Given the description of an element on the screen output the (x, y) to click on. 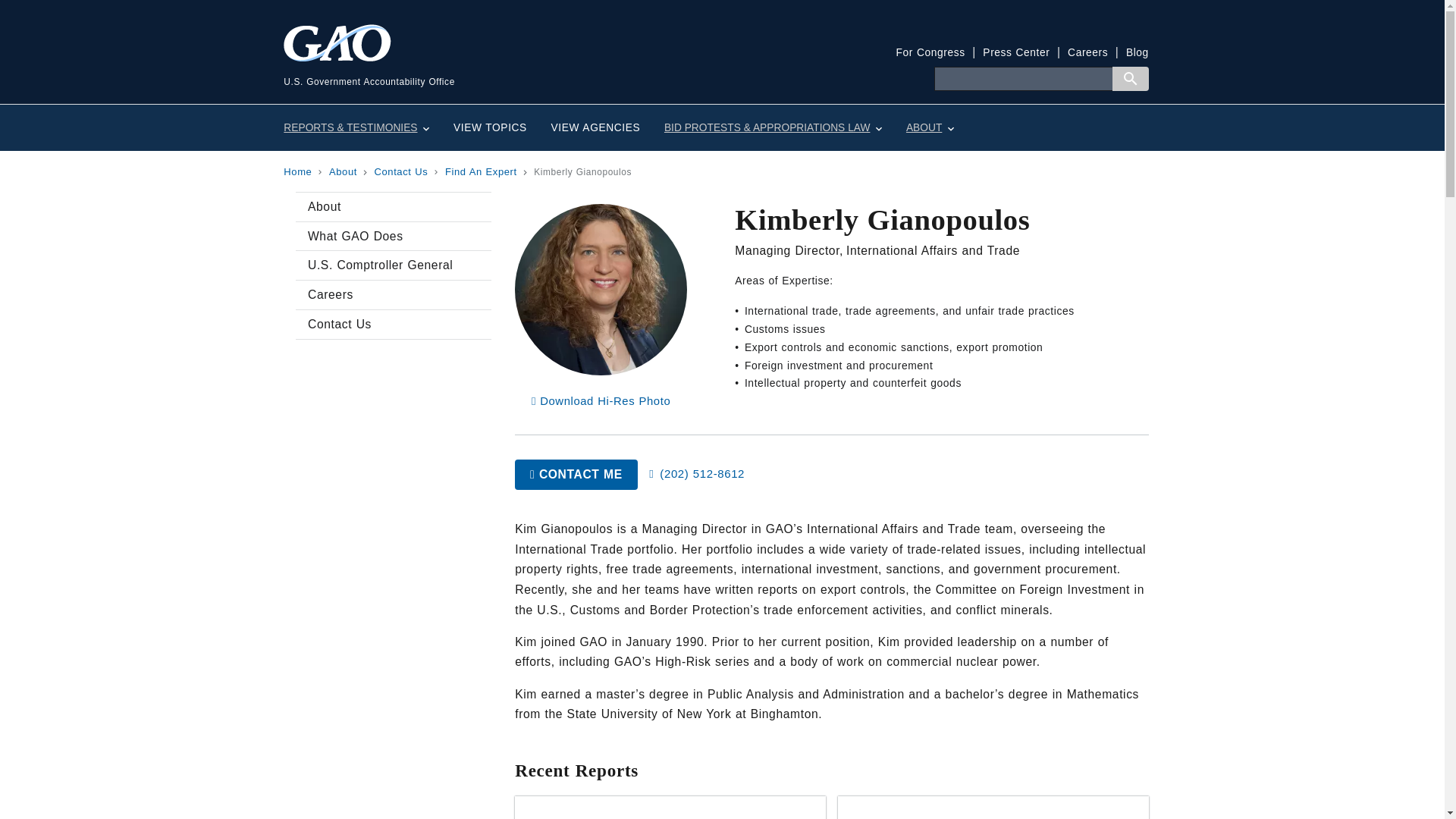
U.S. Comptroller General (392, 265)
ABOUT (929, 127)
VIEW AGENCIES (595, 127)
About (392, 206)
Find An Expert (480, 171)
Blog (1136, 52)
Home (502, 66)
Contact Us (392, 324)
Home (297, 171)
Contact Us (401, 171)
For Congress (930, 52)
U.S. Government Accountability Office (502, 66)
CONTACT ME (576, 473)
Download Hi-Res Photo (600, 400)
Press Center (1015, 52)
